Given the description of an element on the screen output the (x, y) to click on. 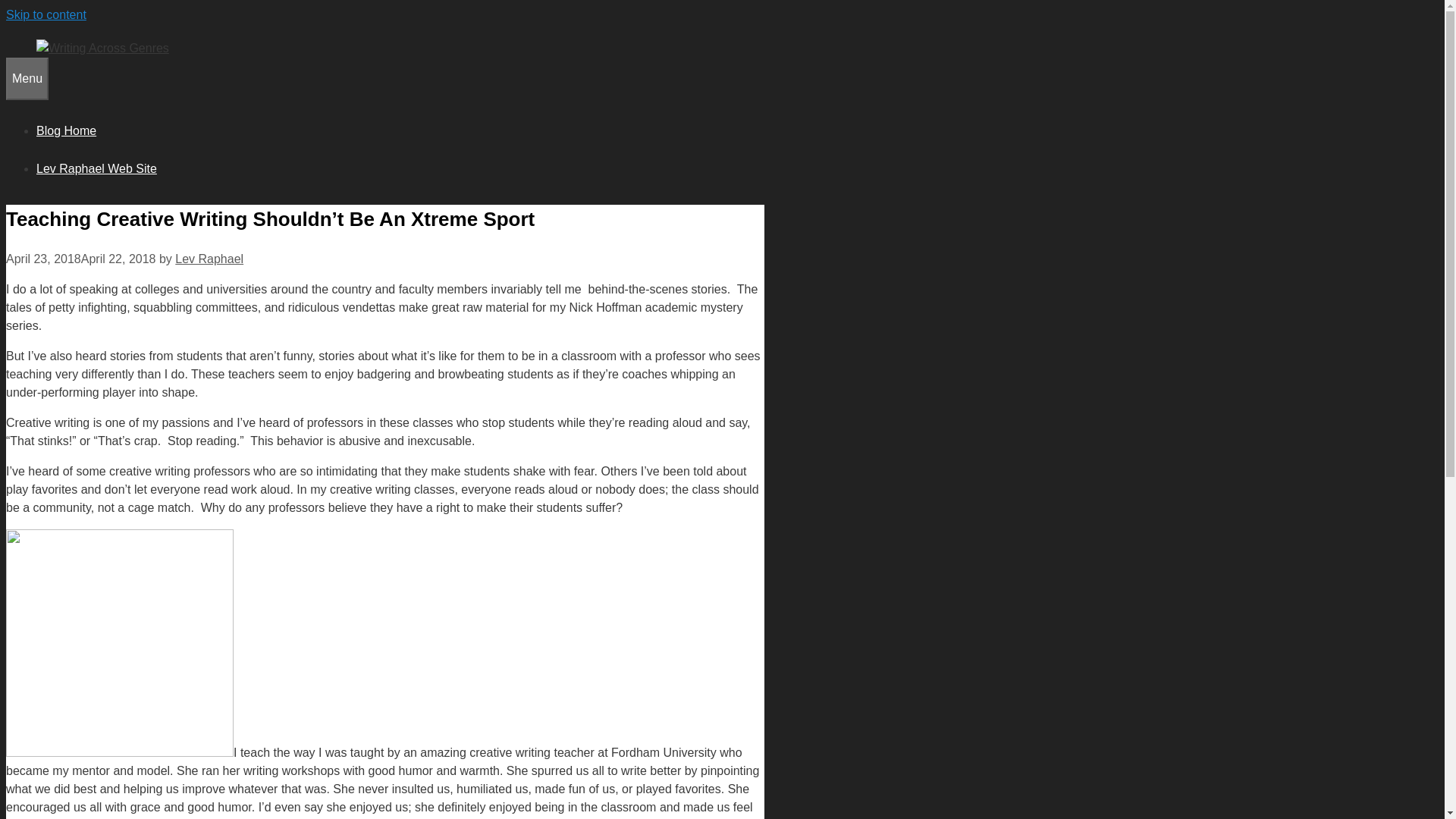
Lev Raphael (208, 258)
View all posts by Lev Raphael (208, 258)
Menu (26, 78)
Skip to content (45, 14)
Blog Home (66, 130)
Skip to content (45, 14)
Lev Raphael Web Site (96, 168)
